Given the description of an element on the screen output the (x, y) to click on. 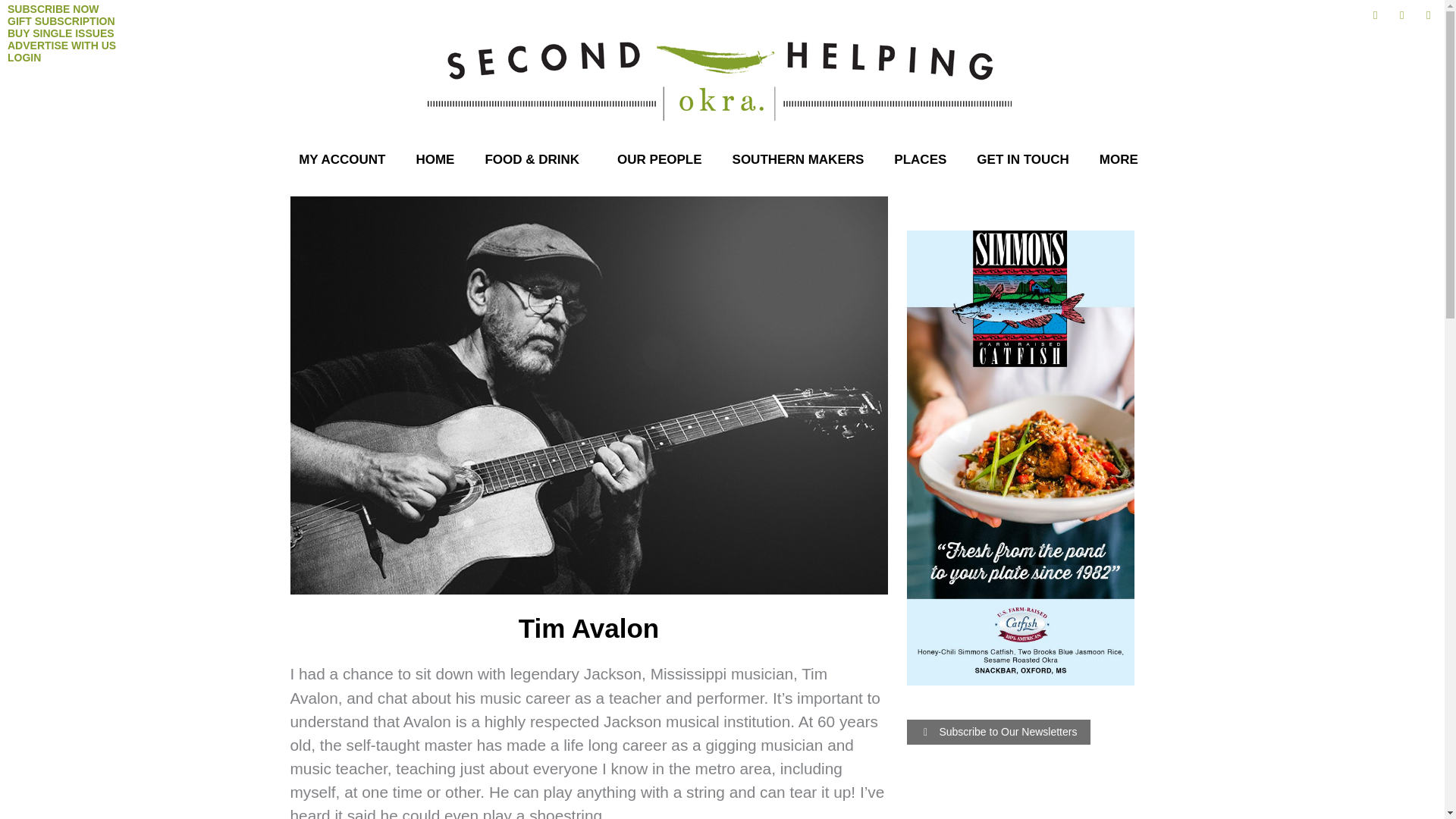
OUR PEOPLE (659, 159)
SOUTHERN MAKERS (798, 159)
HOME (434, 159)
LOGIN (23, 57)
Facebook-f (1375, 15)
SUBSCRIBE NOW (53, 9)
Envelope (1427, 15)
GIFT SUBSCRIPTION (61, 21)
MY ACCOUNT (341, 159)
MORE (1122, 159)
BUY SINGLE ISSUES (61, 33)
GET IN TOUCH (1022, 159)
Subscribe to Our Newsletters (998, 731)
PLACES (919, 159)
Instagram (1401, 15)
